Given the description of an element on the screen output the (x, y) to click on. 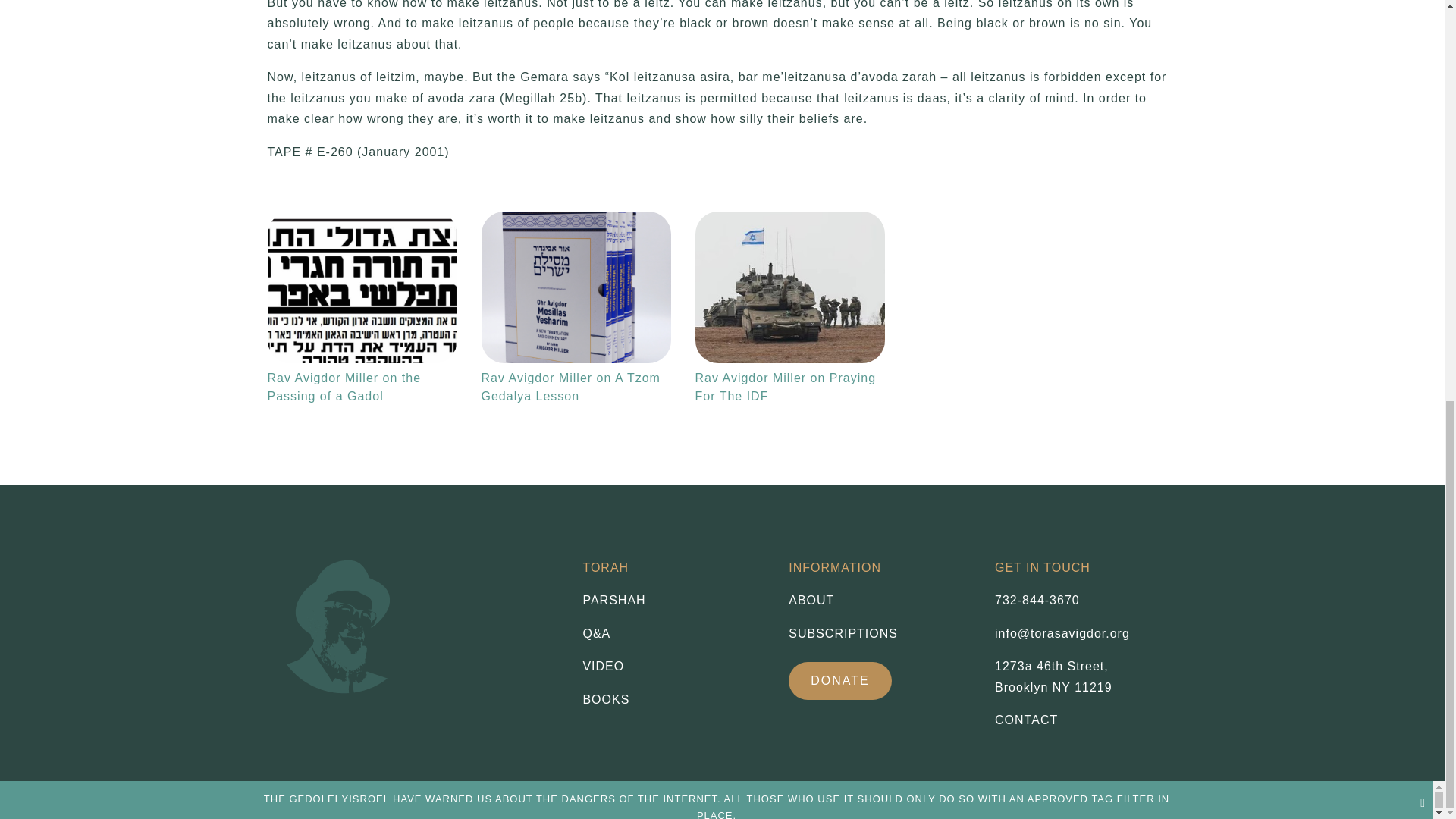
BOOKS (673, 699)
DONATE (840, 680)
PARSHAH (673, 599)
VIDEO (673, 666)
Rav Avigdor Miller on Praying For The IDF (788, 287)
Rav Avigdor Miller on the Passing of a Gadol (361, 287)
footer-img (344, 622)
ABOUT (1053, 676)
Rav Avigdor Miller on A Tzom Gedalya Lesson (880, 599)
SUBSCRIPTIONS (574, 287)
732-844-3670 (880, 633)
CONTACT (1037, 599)
